Given the description of an element on the screen output the (x, y) to click on. 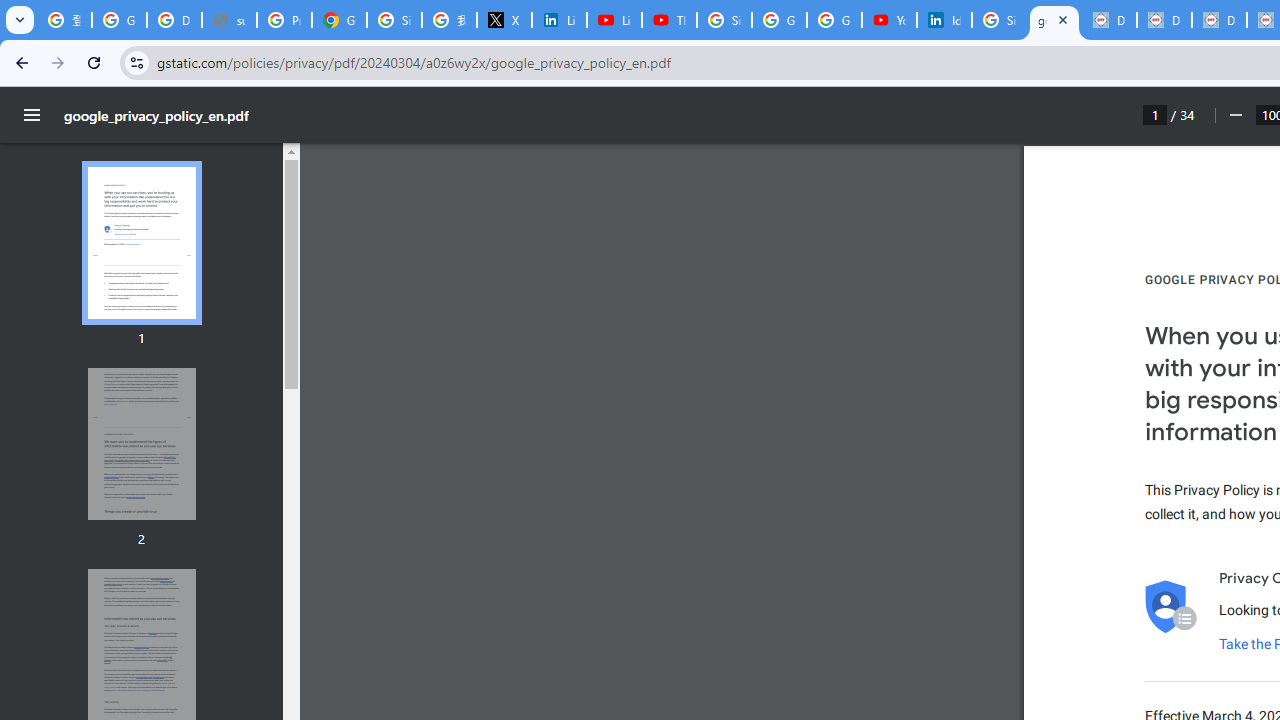
Thumbnail for page 2 (141, 444)
LinkedIn Privacy Policy (559, 20)
Zoom out (1234, 115)
Data Privacy Framework (1218, 20)
AutomationID: thumbnail (141, 443)
Sign in - Google Accounts (394, 20)
Thumbnail for page 1 (141, 243)
Data Privacy Framework (1163, 20)
LinkedIn - YouTube (614, 20)
X (504, 20)
Page number (1155, 114)
